Given the description of an element on the screen output the (x, y) to click on. 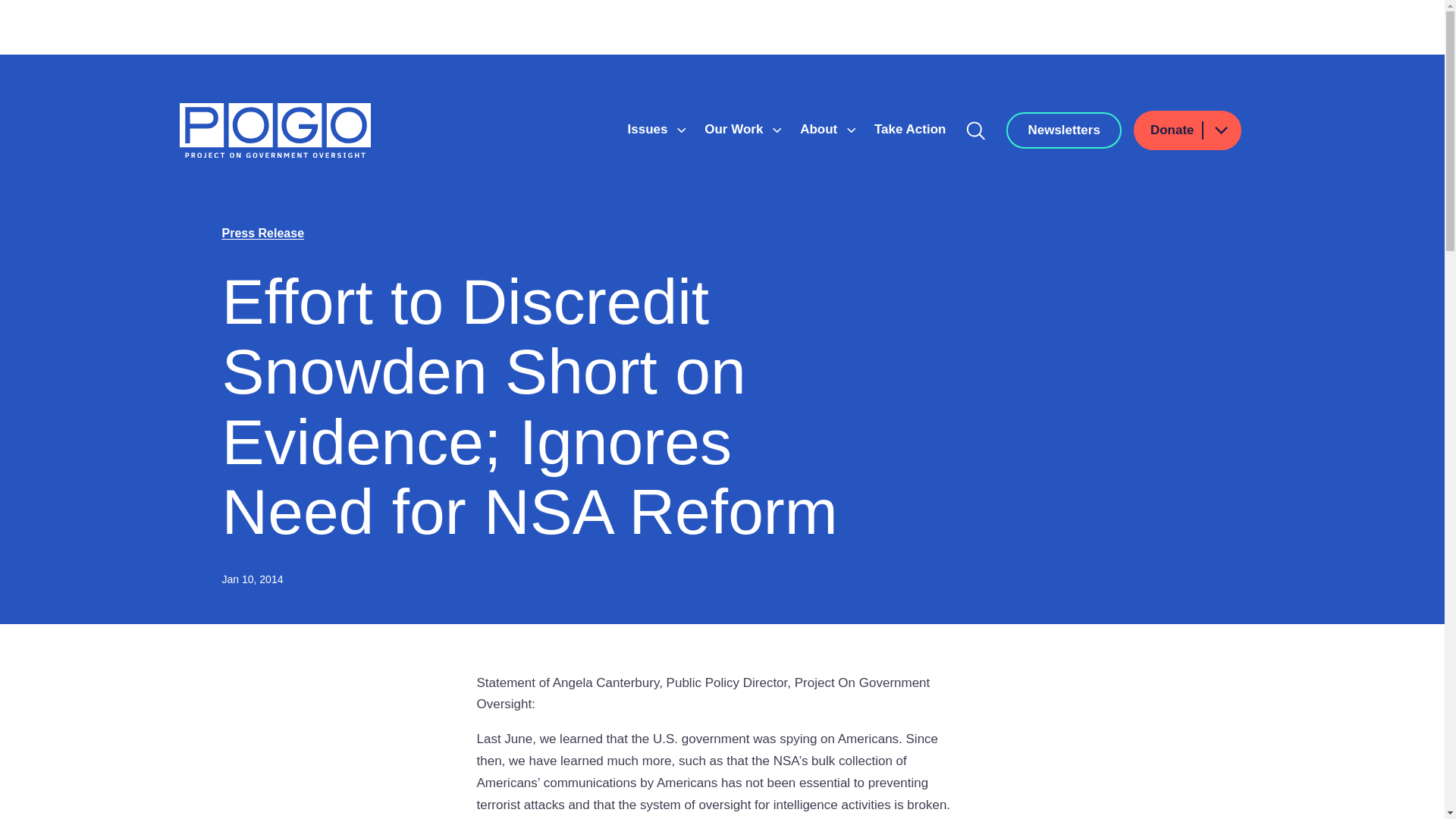
Show submenu for Issues (681, 130)
Search (976, 130)
Home (274, 130)
Show submenu for Donate (1220, 129)
Show submenu for Our Work (777, 130)
Our Work (735, 129)
Show submenu for About (851, 130)
Newsletters (1063, 130)
Issues (649, 129)
Take Action (909, 129)
